Given the description of an element on the screen output the (x, y) to click on. 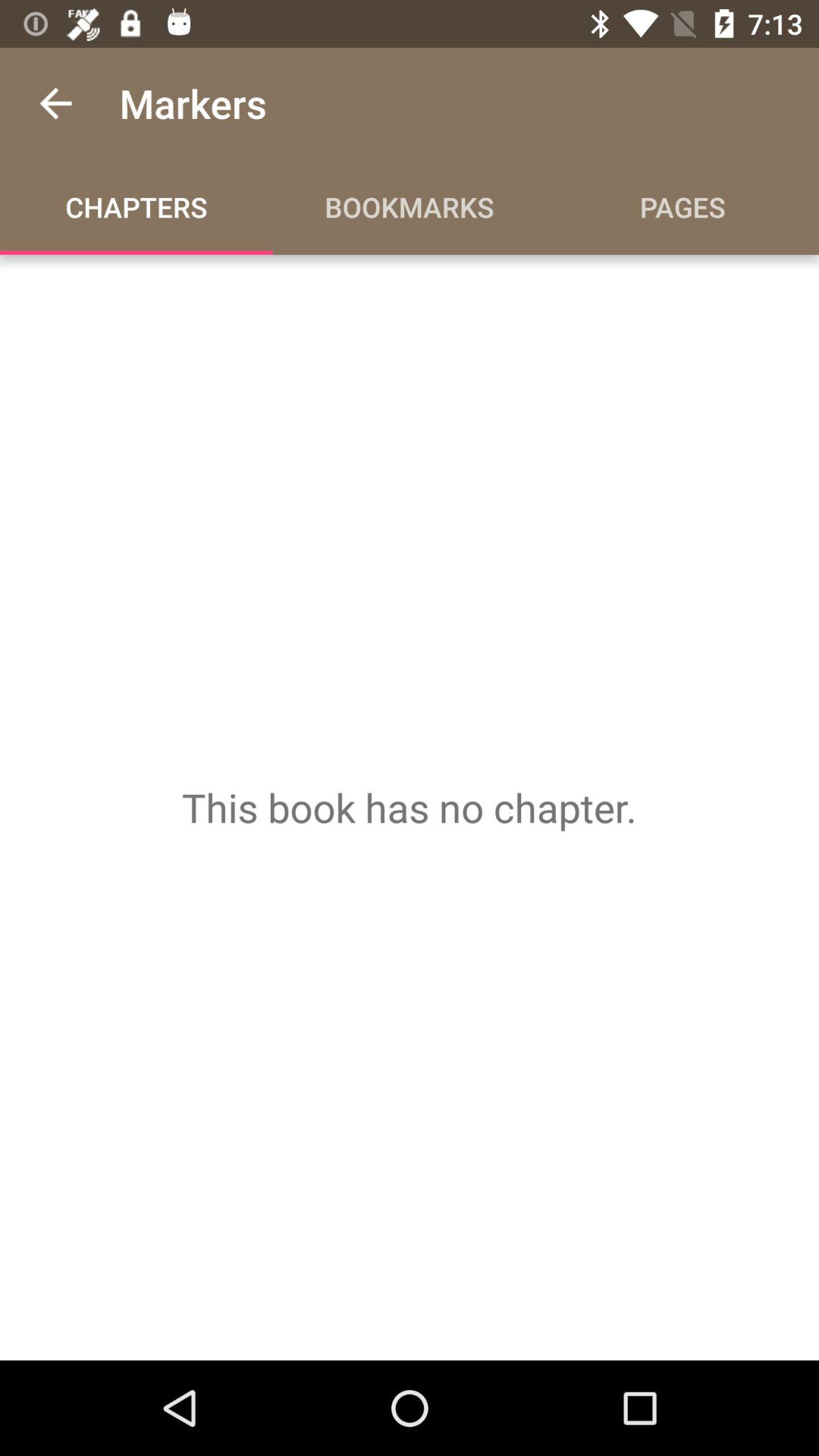
select icon below chapters item (409, 807)
